Given the description of an element on the screen output the (x, y) to click on. 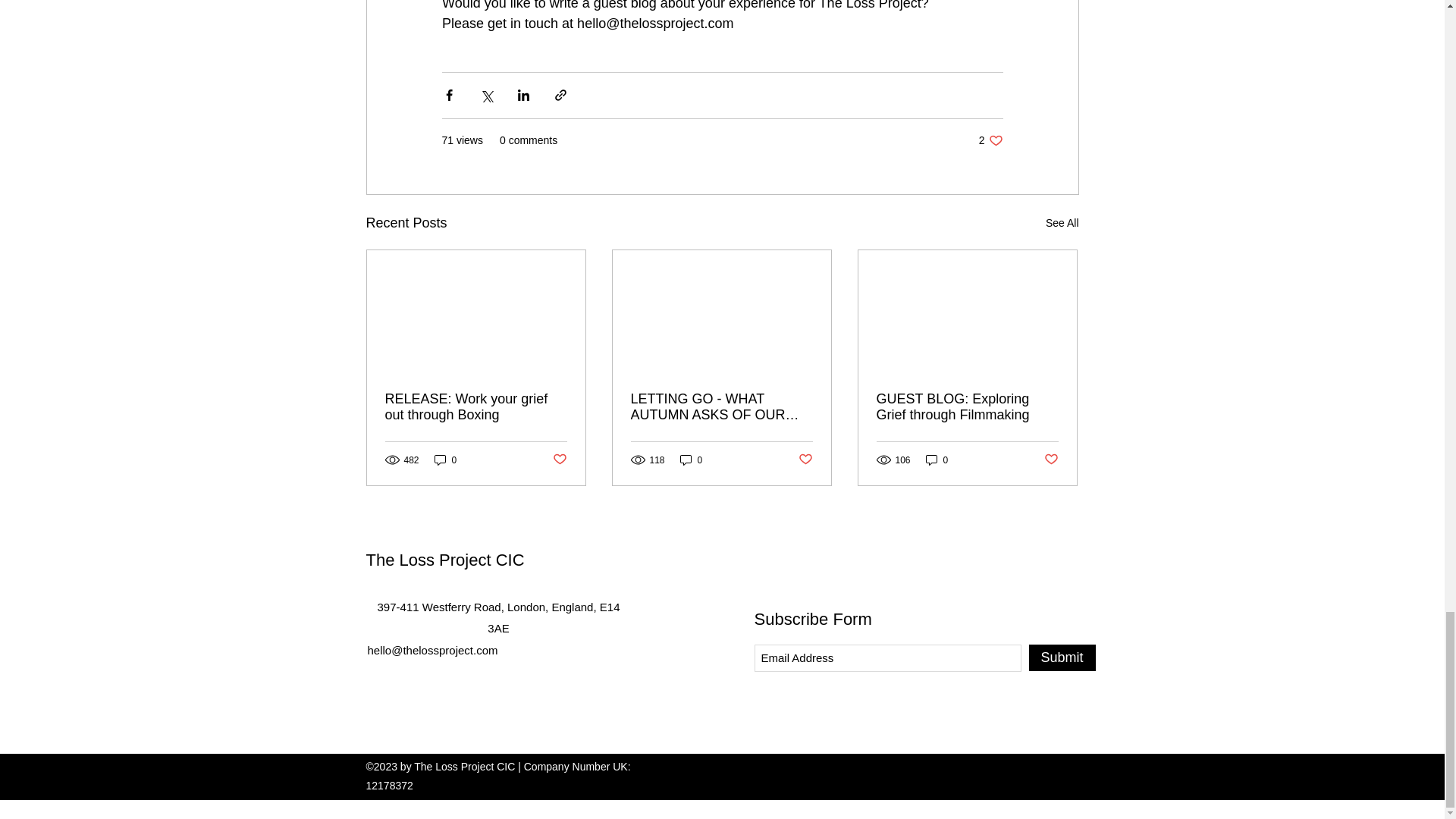
See All (1061, 223)
0 (445, 459)
Post not marked as liked (990, 140)
LETTING GO - WHAT AUTUMN ASKS OF OUR HEARTS (558, 459)
RELEASE: Work your grief out through Boxing (721, 407)
